Given the description of an element on the screen output the (x, y) to click on. 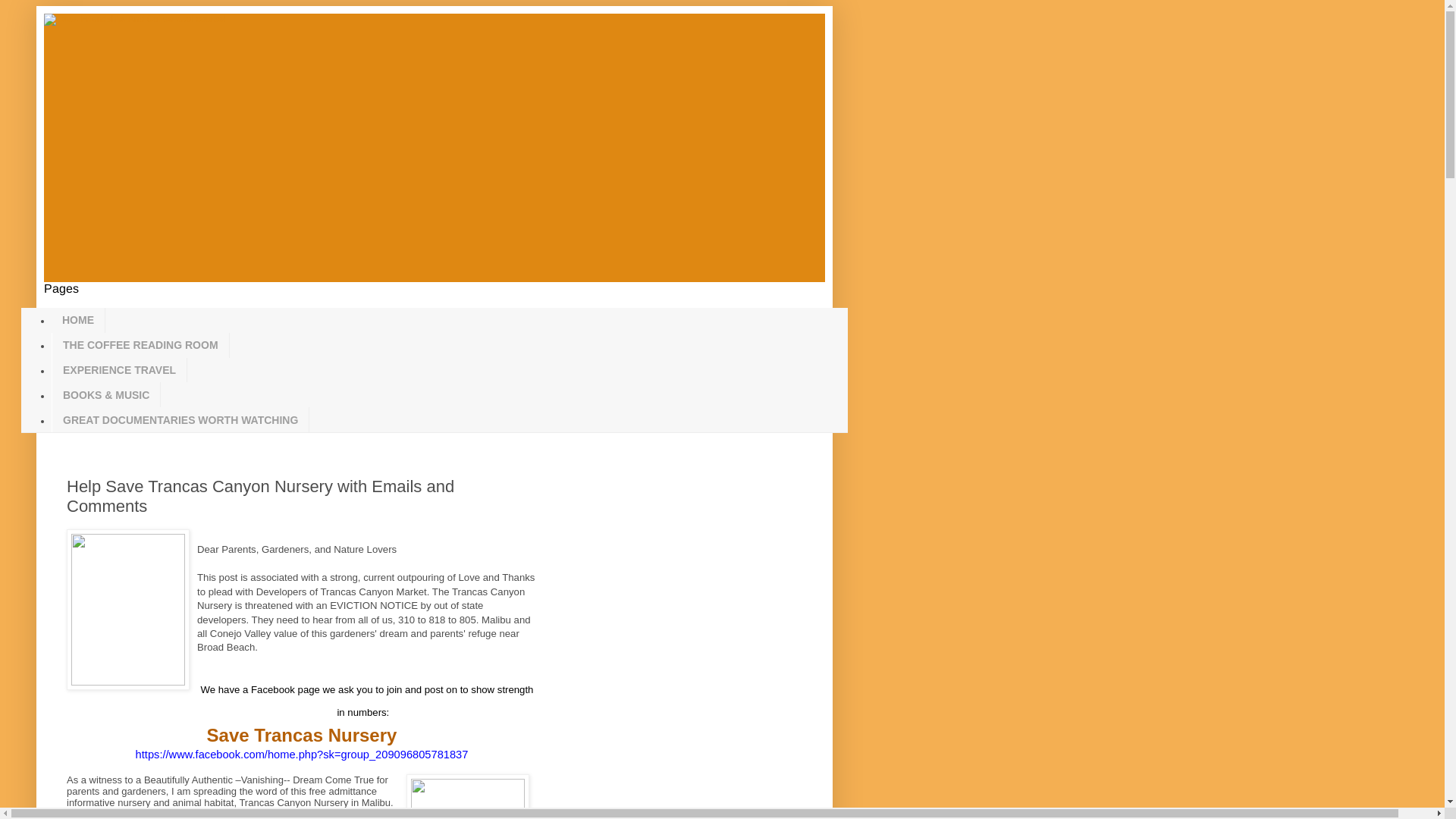
https://www.facebook.com/home.php?sk=group_209096805781837 Element type: text (301, 754)
BOOKS & MUSIC Element type: text (105, 394)
EXPERIENCE TRAVEL Element type: text (119, 369)
HOME Element type: text (78, 319)
THE COFFEE READING ROOM Element type: text (140, 344)
GREAT DOCUMENTARIES WORTH WATCHING Element type: text (180, 419)
